Given the description of an element on the screen output the (x, y) to click on. 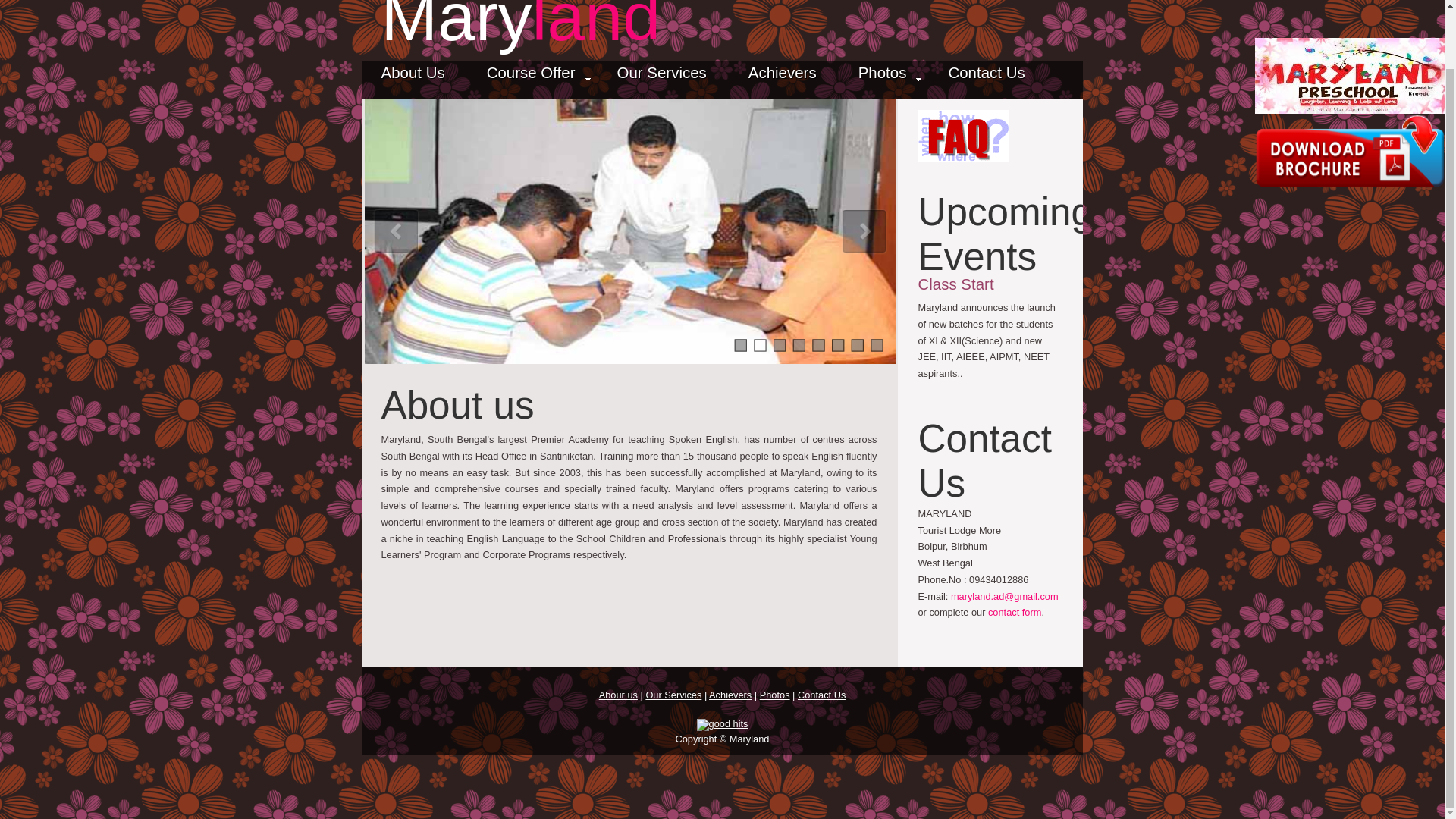
Contact Us (821, 695)
Contact Us (985, 77)
Achievers (782, 77)
Maryland (519, 27)
Achievers (730, 695)
Photos (775, 695)
About Us (413, 77)
Abour us (617, 695)
Our Services (660, 77)
good hits (722, 725)
